Given the description of an element on the screen output the (x, y) to click on. 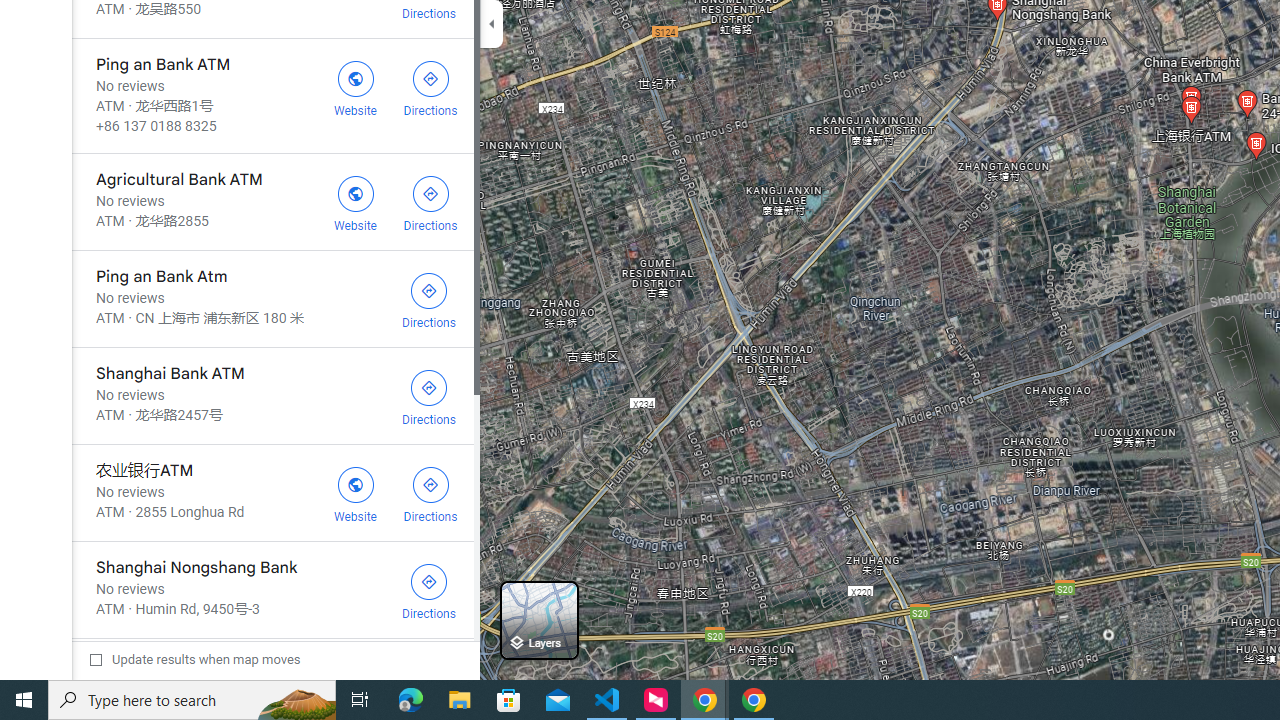
Layers (539, 620)
